Given the description of an element on the screen output the (x, y) to click on. 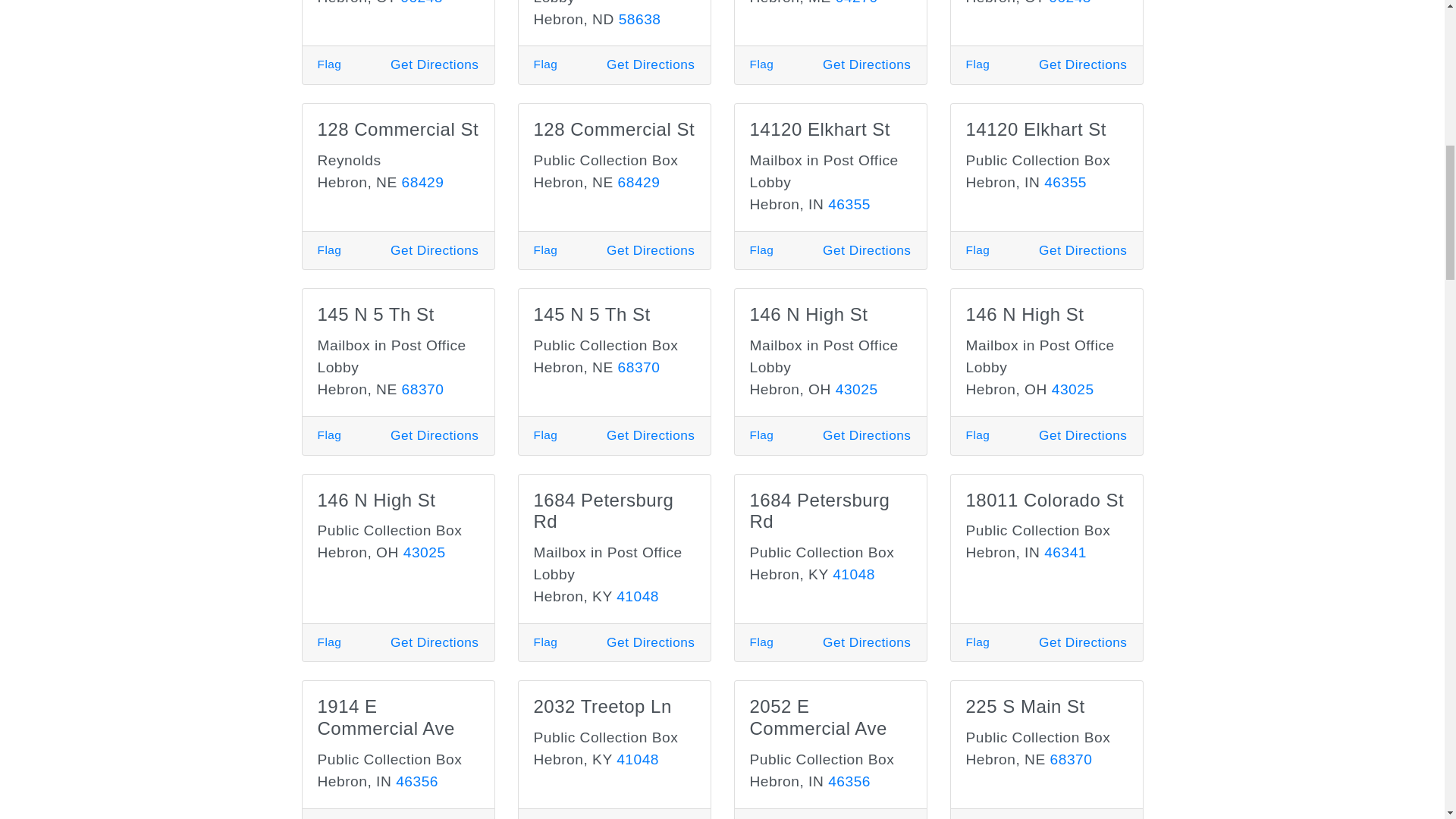
Flag (761, 63)
Flag (978, 63)
06248 (1069, 2)
58638 (639, 19)
Get Directions (650, 64)
Flag (545, 63)
04270 (856, 2)
Get Directions (434, 64)
Flag (328, 63)
Get Directions (866, 64)
